Given the description of an element on the screen output the (x, y) to click on. 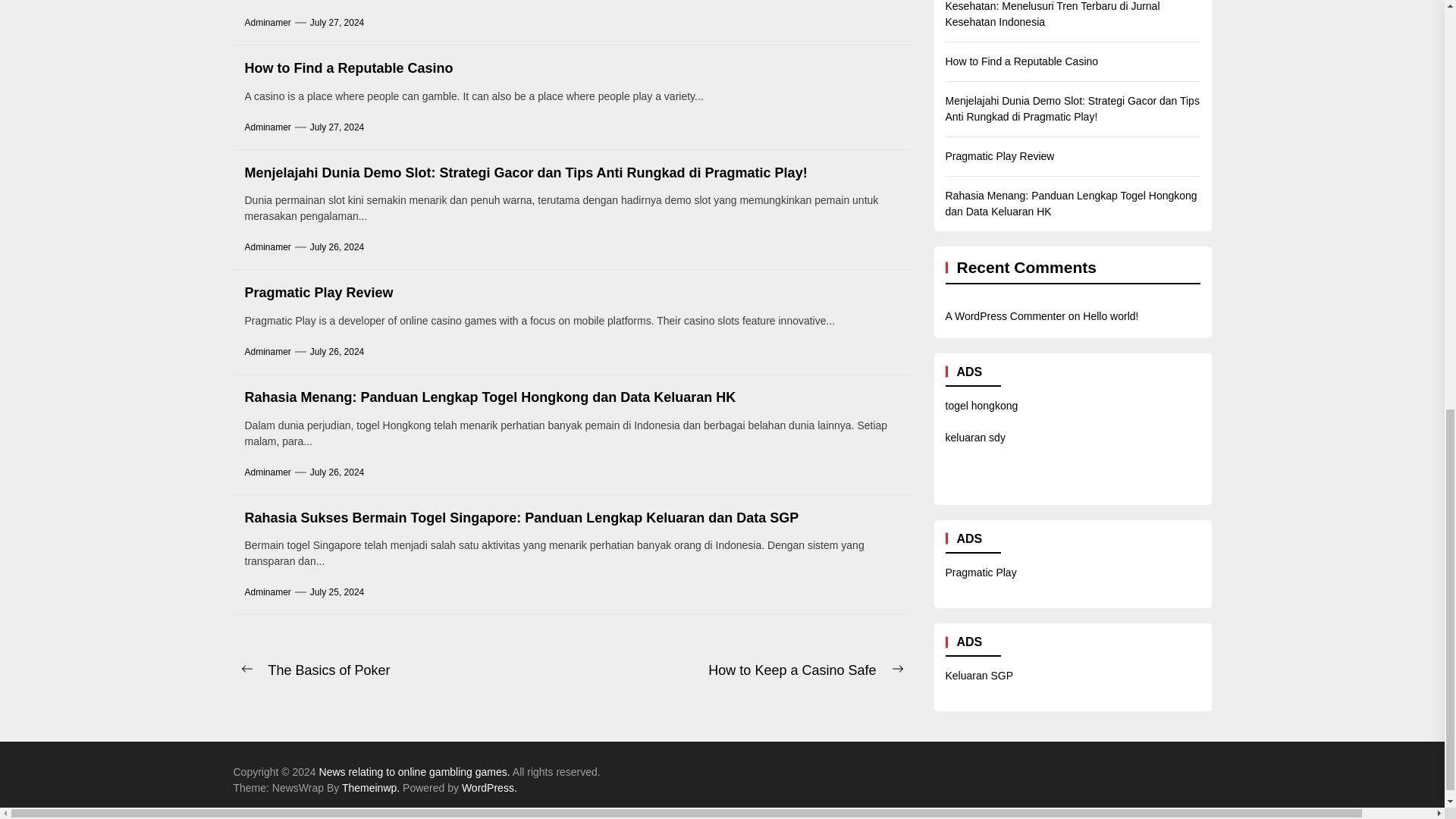
April 2022 (1248, 323)
December 2022 (1262, 7)
July 2022 (1246, 204)
June 2022 (1249, 244)
May 2022 (1247, 283)
August 2022 (1254, 165)
October 2022 (1256, 86)
September 2022 (1263, 125)
November 2022 (1262, 47)
